Given the description of an element on the screen output the (x, y) to click on. 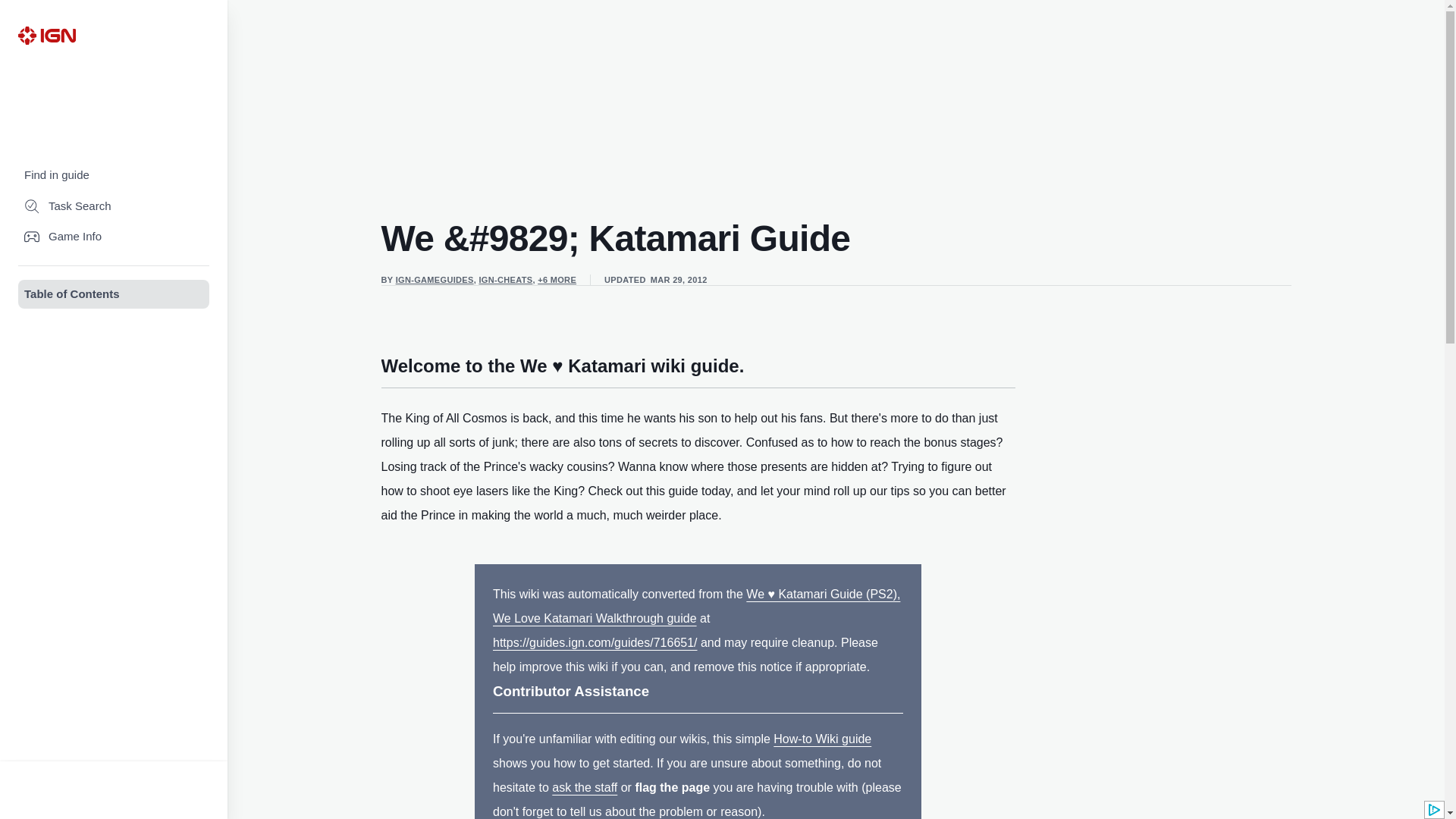
Game Info (113, 236)
IGN (46, 35)
Find in guide (113, 175)
Game Info (113, 236)
Task Search (113, 206)
Table of Contents (113, 294)
How-to Wiki guide (821, 738)
IGN-CHEATS (505, 279)
ask the staff (584, 787)
IGN-GAMEGUIDES (435, 279)
IGN Logo (46, 34)
Task Search (113, 206)
Table of Contents (113, 294)
IGN Logo (46, 35)
Find in guide (113, 175)
